Given the description of an element on the screen output the (x, y) to click on. 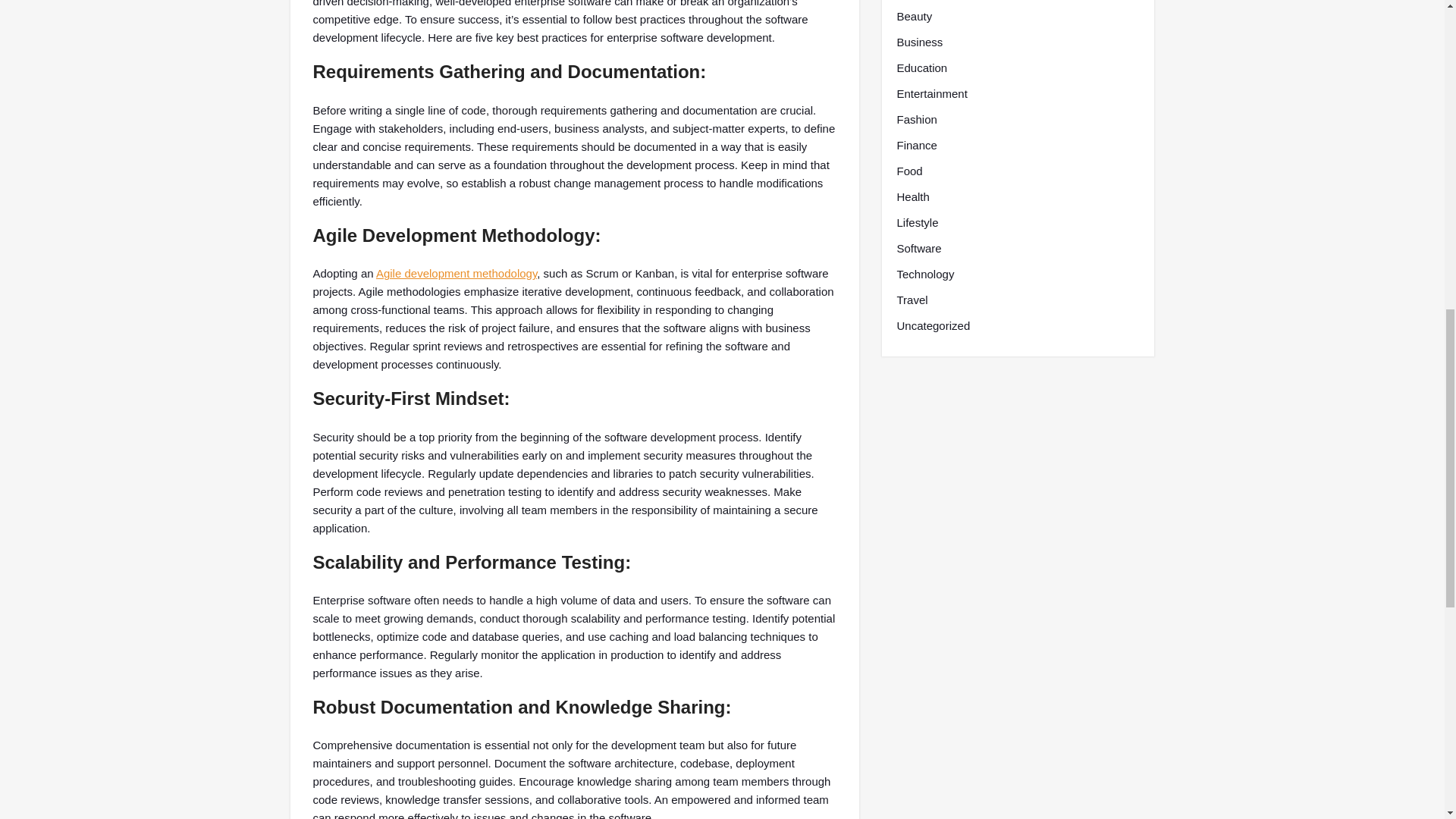
Entertainment (931, 94)
Business (919, 42)
Agile development methodology (456, 273)
Education (921, 67)
Beauty (913, 16)
Fashion (916, 119)
